Given the description of an element on the screen output the (x, y) to click on. 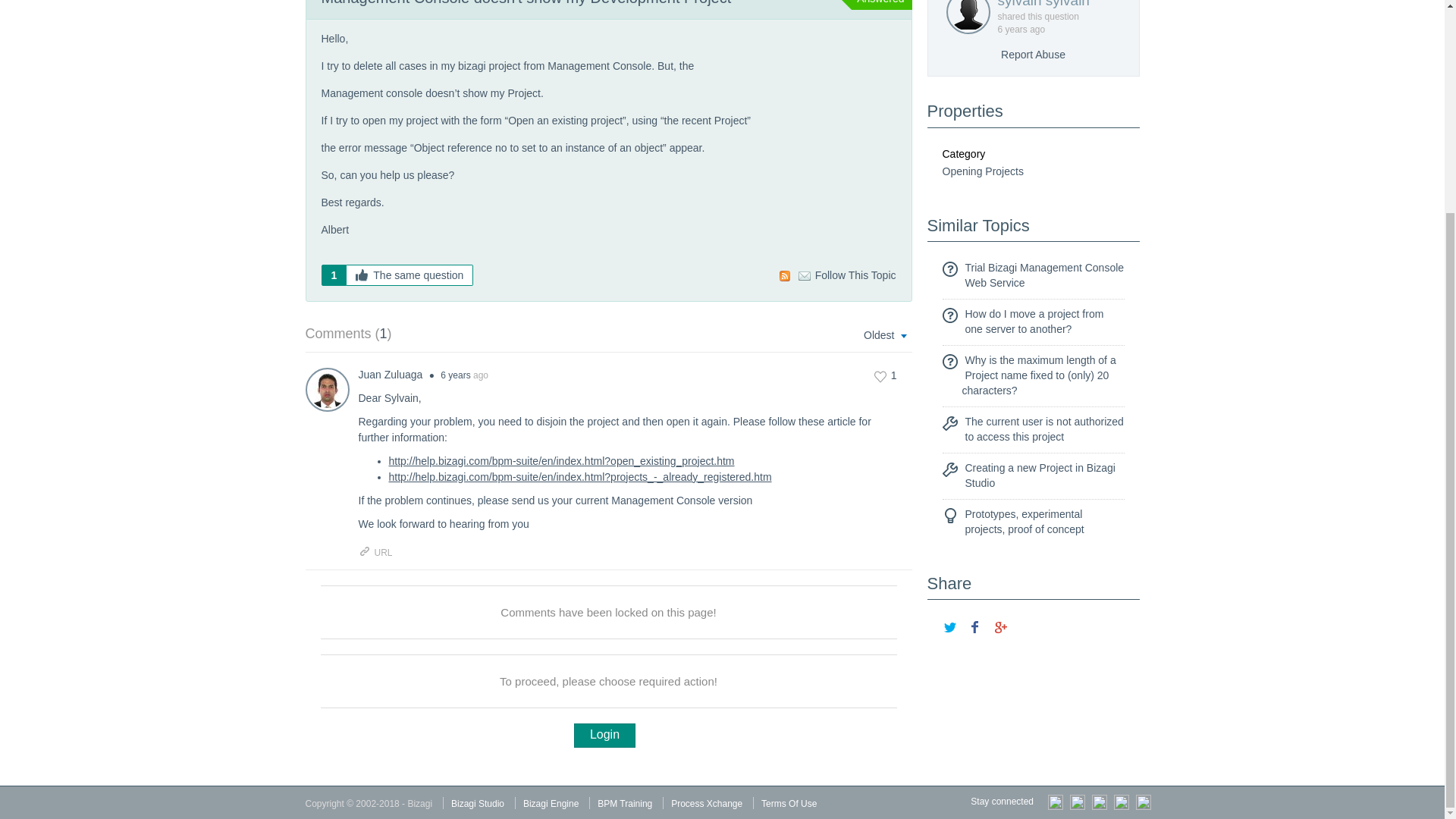
Bizagi Studio (477, 803)
2018.01.22 14:37:24 (1012, 29)
Trial Bizagi Management Console Web Service (1043, 275)
Prototypes, experimental projects, proof of concept (1023, 521)
1 (886, 376)
facebook page (1143, 801)
Follow us (1055, 801)
linkedin page (1121, 801)
Report Abuse (1033, 54)
Creating a new Project in Bizagi Studio (1039, 474)
The current user is not authorized to access this project (1042, 429)
How do I move a project from one server to another? (1033, 320)
sylvain sylvain (1056, 5)
Bizagi Engine (550, 803)
Login (603, 735)
